Given the description of an element on the screen output the (x, y) to click on. 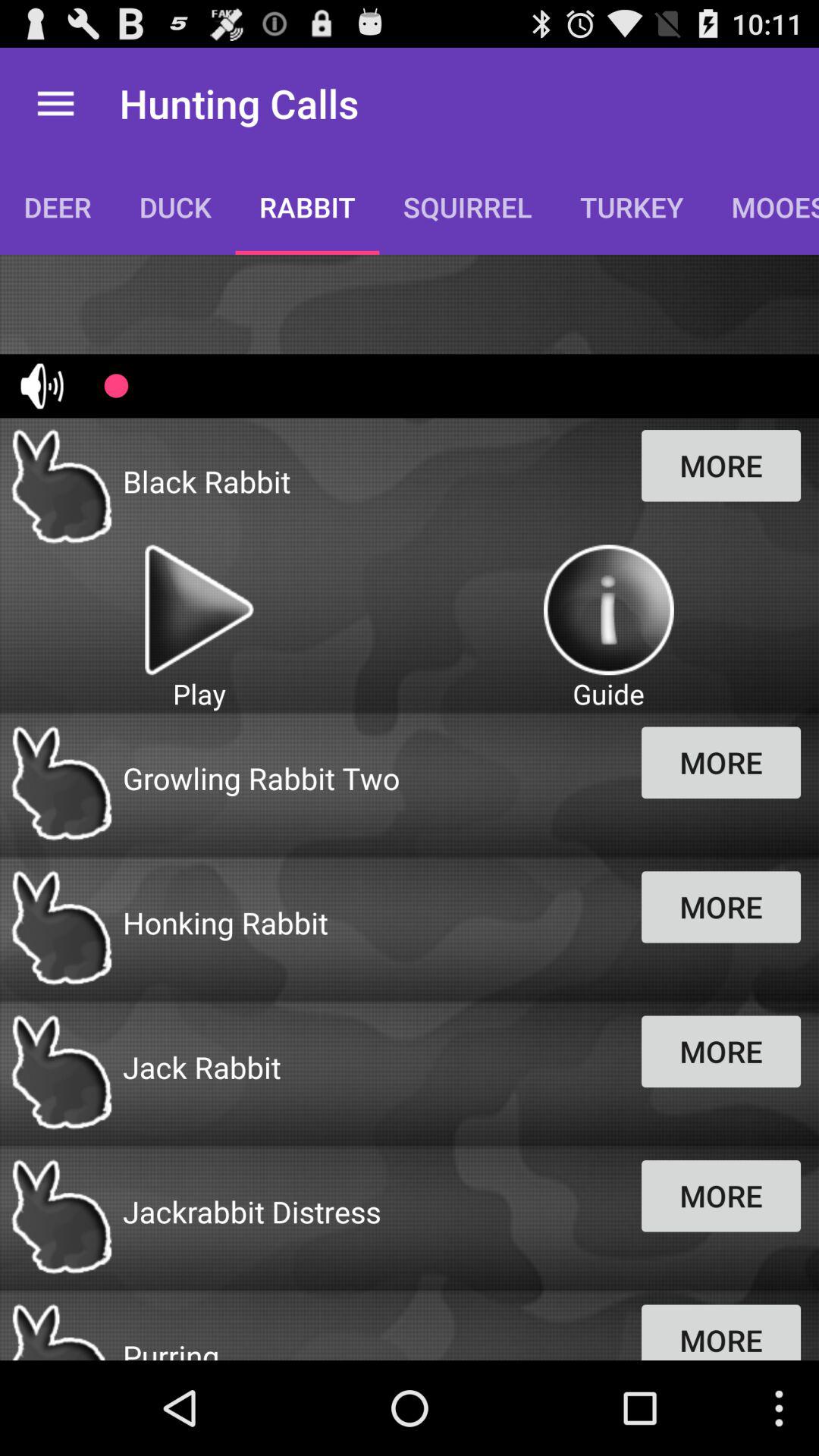
play button (199, 609)
